Given the description of an element on the screen output the (x, y) to click on. 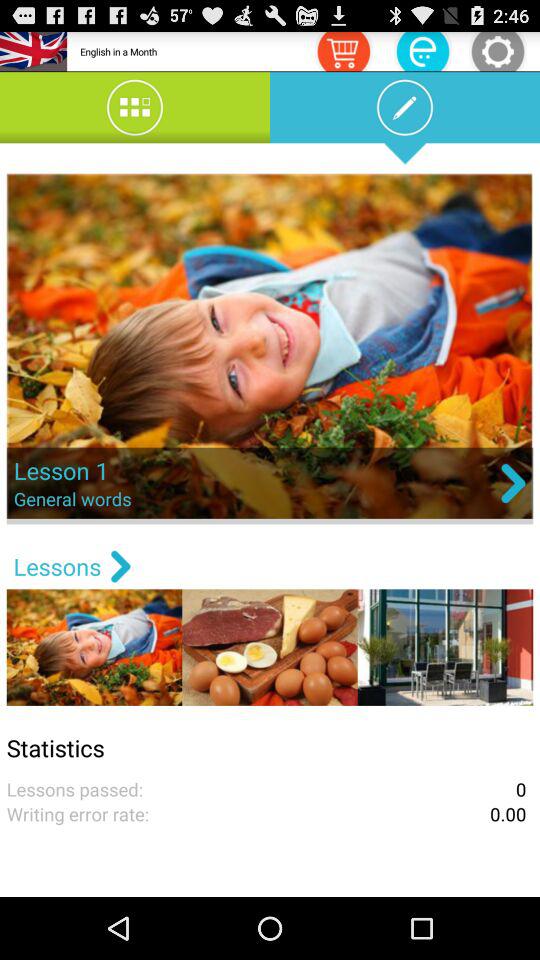
go to cart (343, 50)
